Given the description of an element on the screen output the (x, y) to click on. 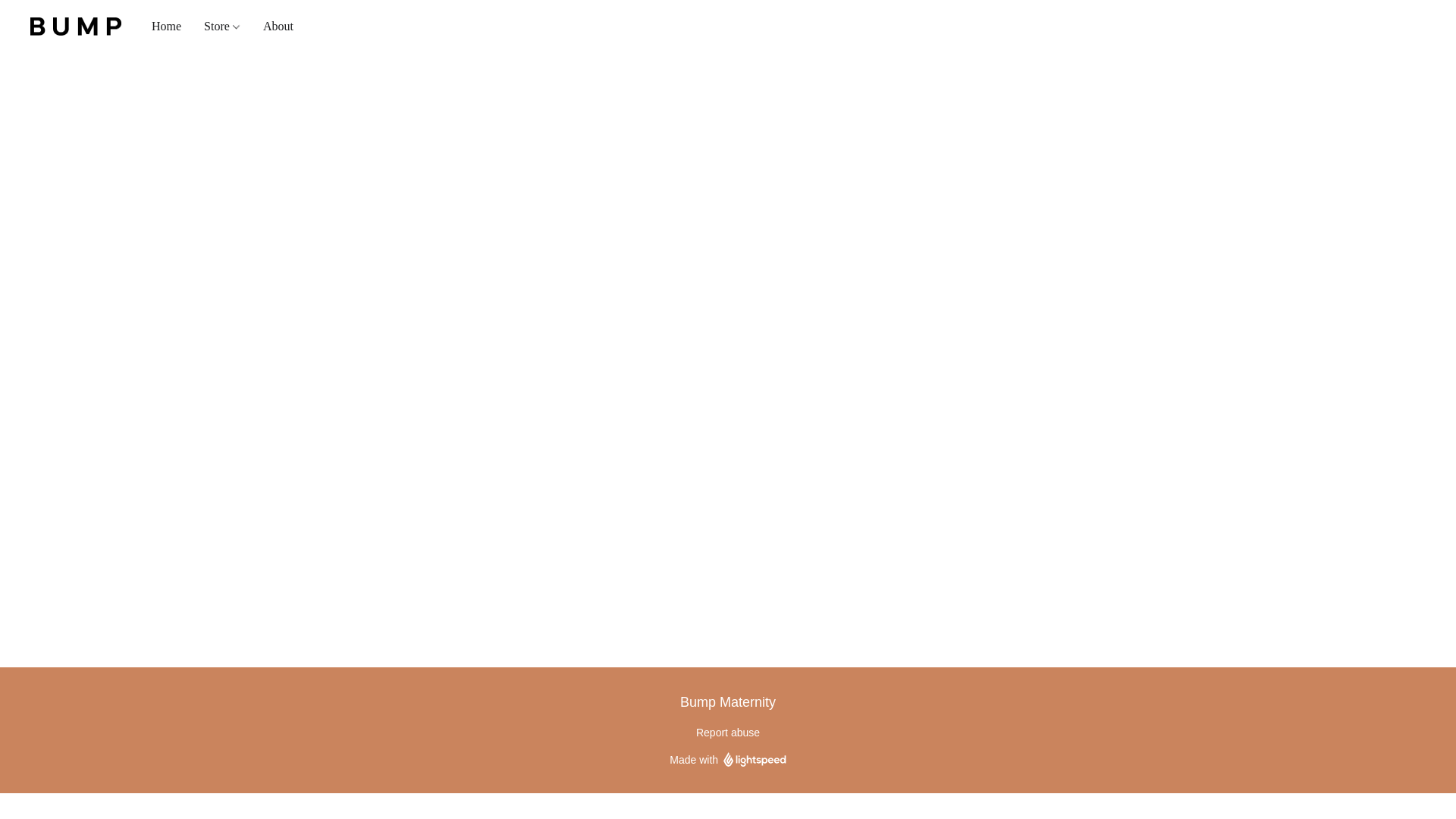
Report abuse (727, 732)
Search the website (1334, 26)
Made with (727, 760)
Go to your shopping cart (1416, 26)
Store (221, 26)
About (272, 26)
Home (171, 26)
